Given the description of an element on the screen output the (x, y) to click on. 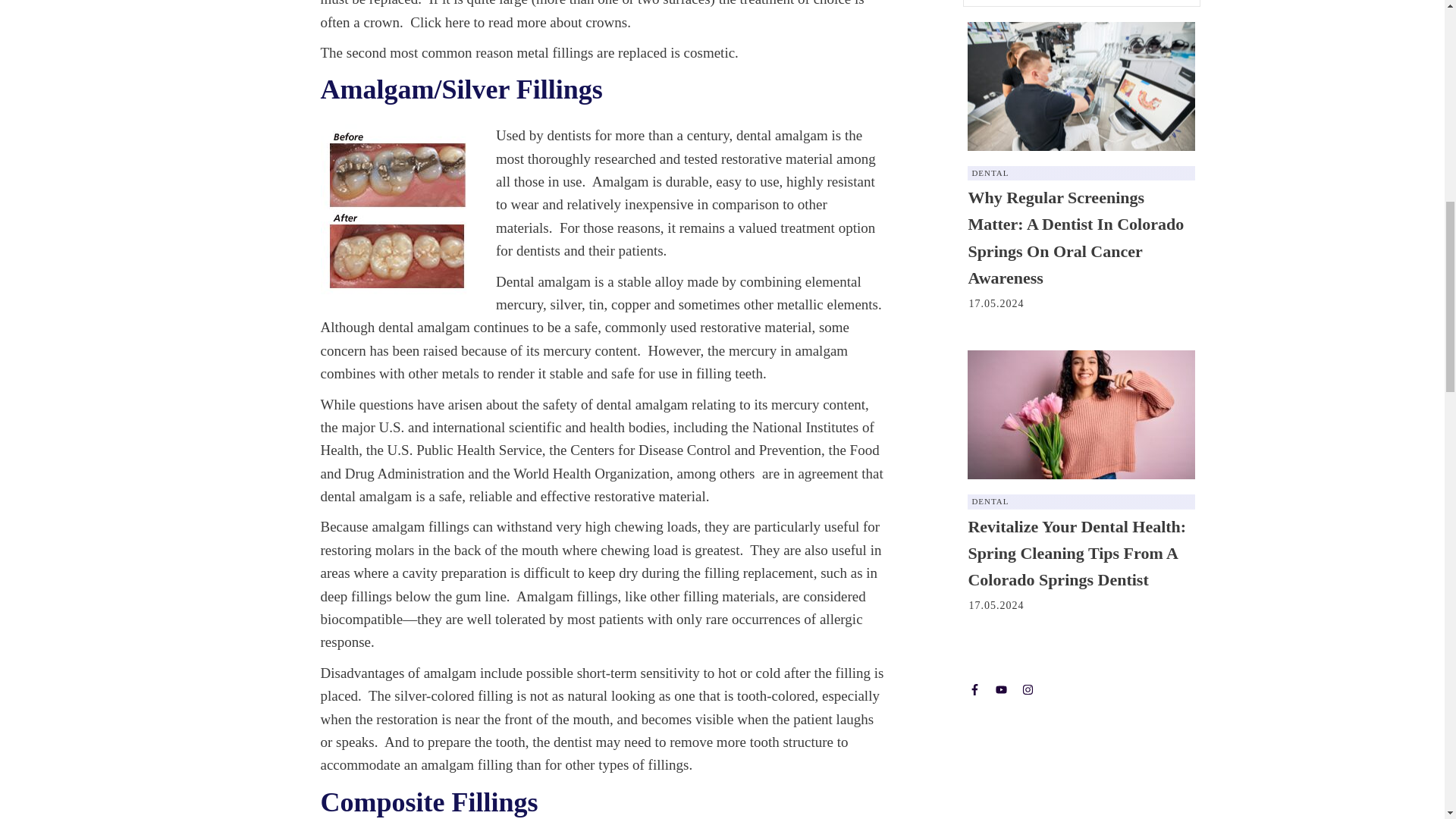
crowns (606, 22)
